Given the description of an element on the screen output the (x, y) to click on. 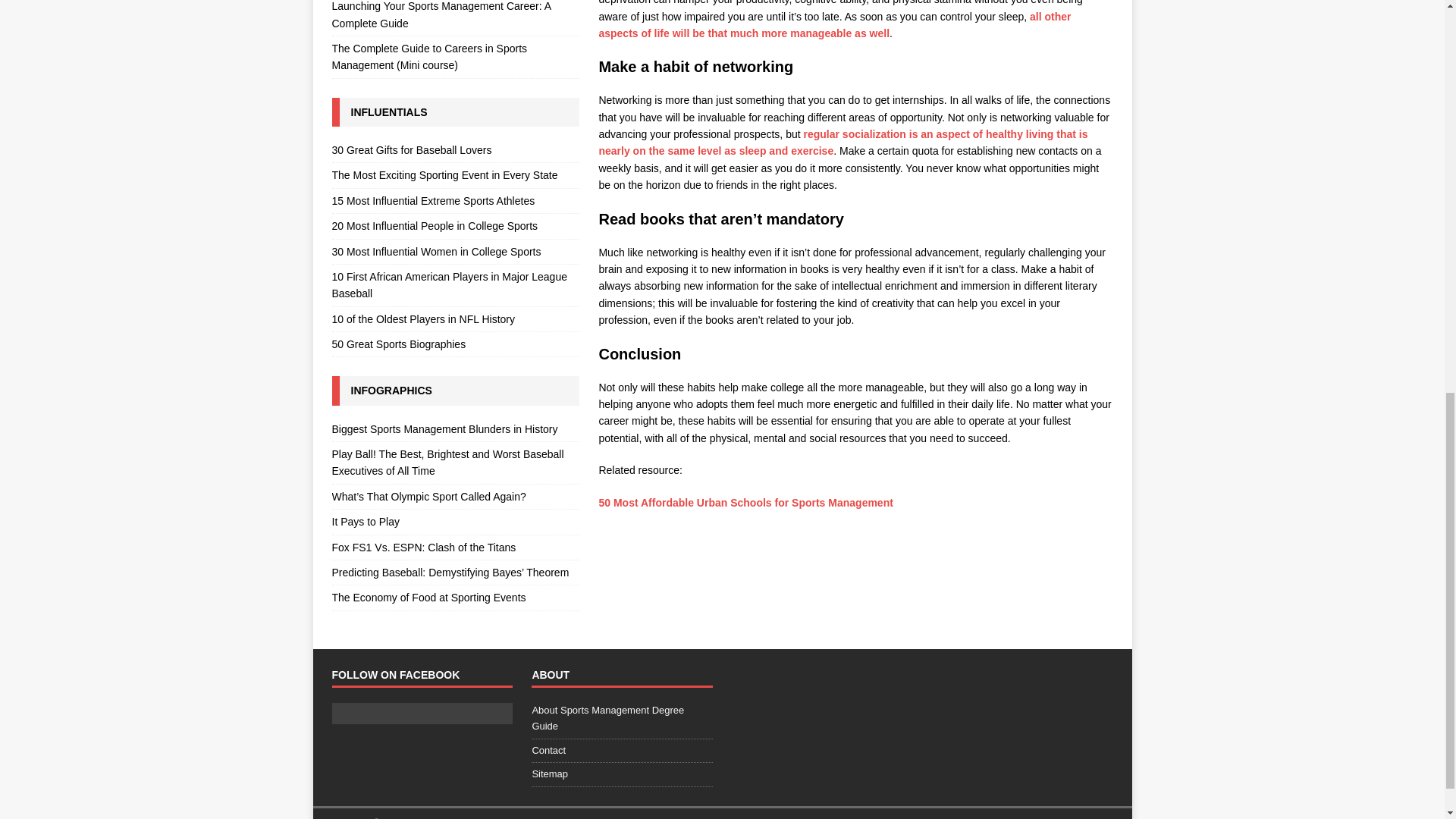
Biggest Sports Management Blunders in History (455, 430)
The Most Exciting Sporting Event in Every State (455, 174)
30 Great Gifts for Baseball Lovers (455, 151)
15 Most Influential Extreme Sports Athletes (455, 200)
10 of the Oldest Players in NFL History (455, 319)
Launching Your Sports Management Career: A Complete Guide (455, 18)
30 Most Influential Women in College Sports (455, 251)
20 Most Influential People in College Sports (455, 225)
10 First African American Players in Major League Baseball (455, 285)
